Given the description of an element on the screen output the (x, y) to click on. 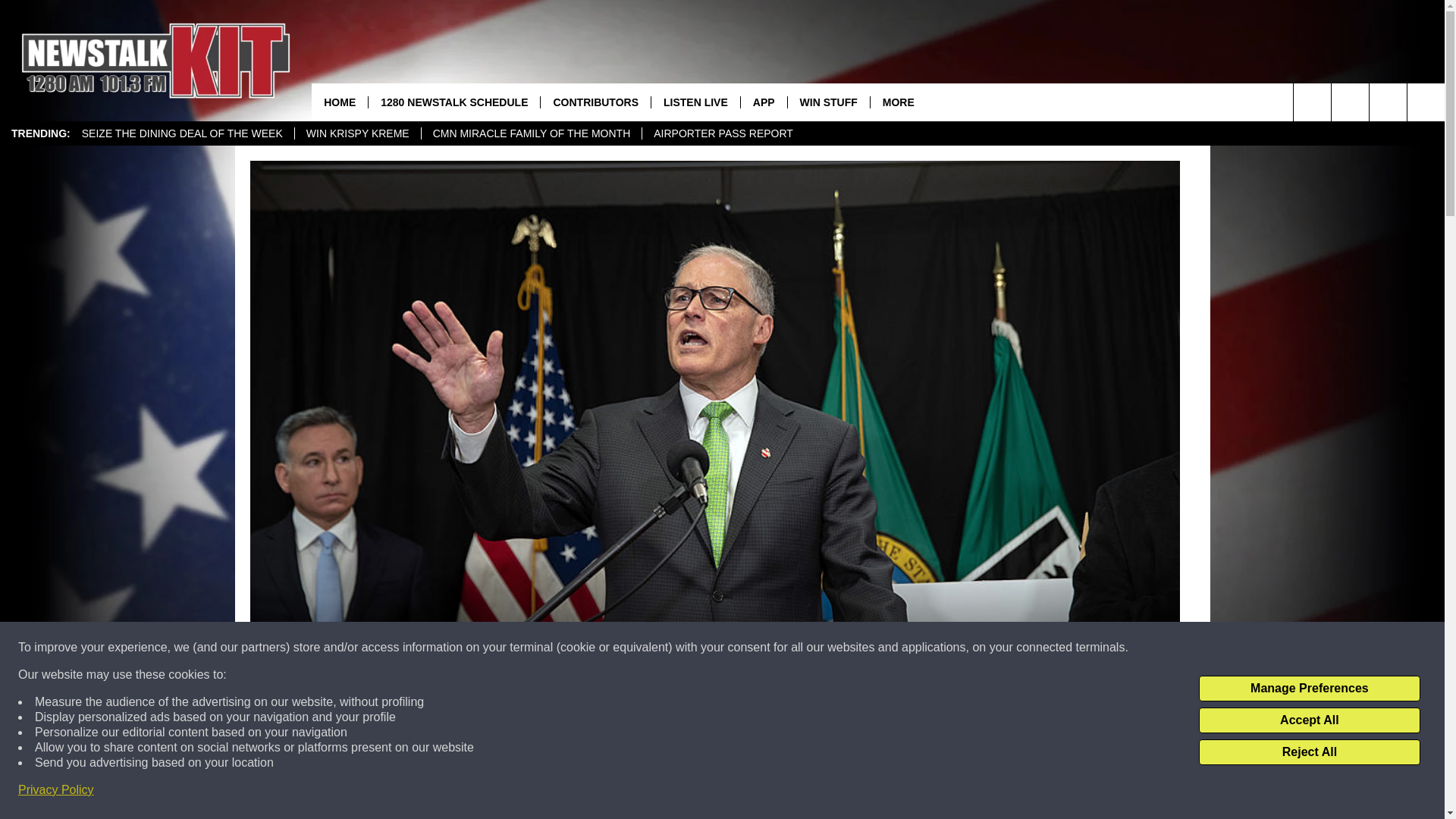
LISTEN LIVE (694, 102)
Privacy Policy (55, 789)
1280 NEWSTALK SCHEDULE (454, 102)
HOME (339, 102)
CMN MIRACLE FAMILY OF THE MONTH (531, 133)
Share on Twitter (912, 791)
Reject All (1309, 751)
Share on Facebook (517, 791)
SEIZE THE DINING DEAL OF THE WEEK (181, 133)
Manage Preferences (1309, 688)
AIRPORTER PASS REPORT (723, 133)
Accept All (1309, 720)
CONTRIBUTORS (595, 102)
WIN KRISPY KREME (357, 133)
